Given the description of an element on the screen output the (x, y) to click on. 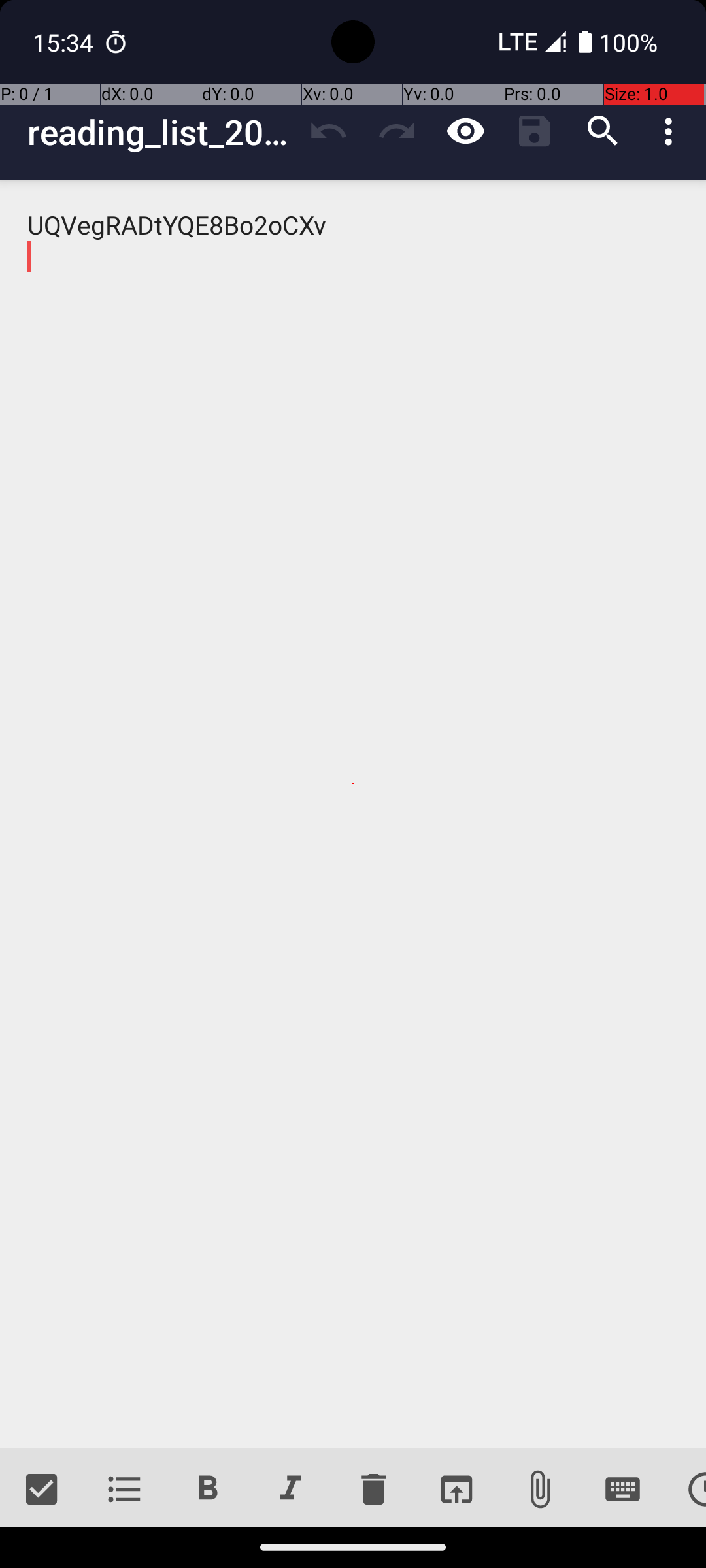
reading_list_2024_copy Element type: android.widget.TextView (160, 131)
UQVegRADtYQE8Bo2oCXv
 Element type: android.widget.EditText (353, 813)
